Given the description of an element on the screen output the (x, y) to click on. 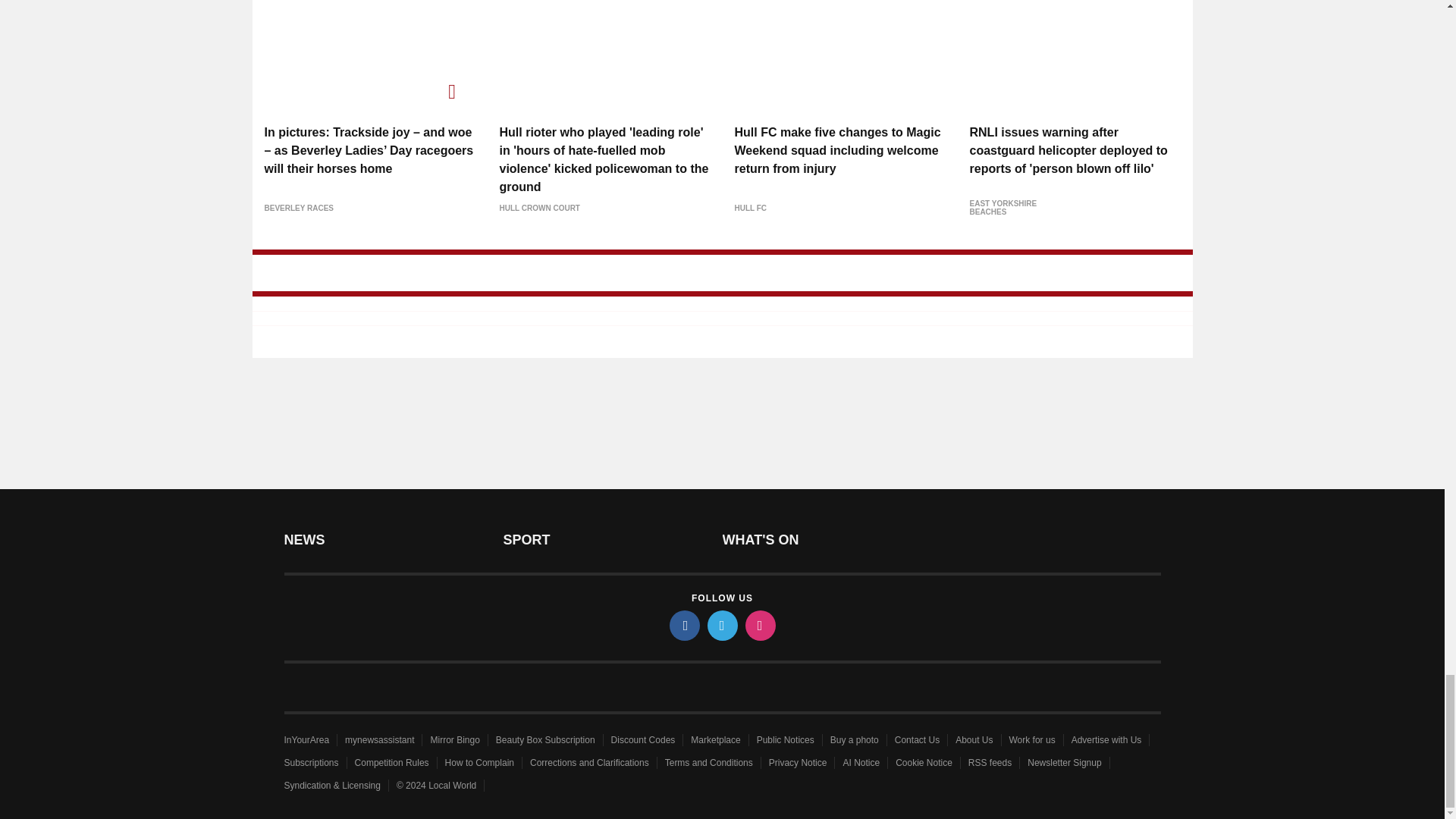
facebook (683, 625)
twitter (721, 625)
instagram (759, 625)
